Given the description of an element on the screen output the (x, y) to click on. 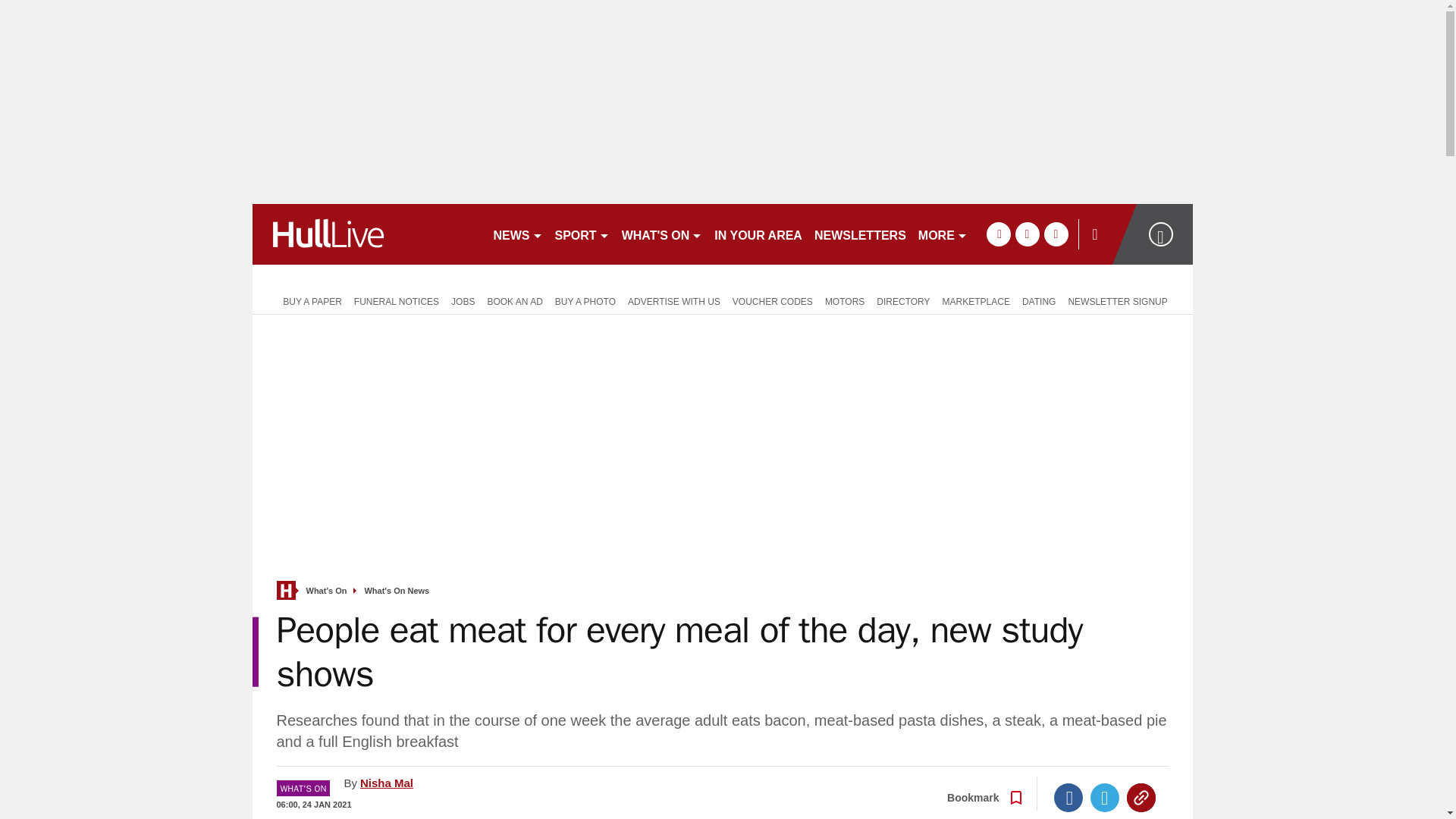
instagram (1055, 233)
Twitter (1104, 797)
facebook (997, 233)
hulldailymail (365, 233)
SPORT (581, 233)
IN YOUR AREA (757, 233)
WHAT'S ON (662, 233)
NEWSLETTERS (860, 233)
Facebook (1068, 797)
NEWS (517, 233)
